Given the description of an element on the screen output the (x, y) to click on. 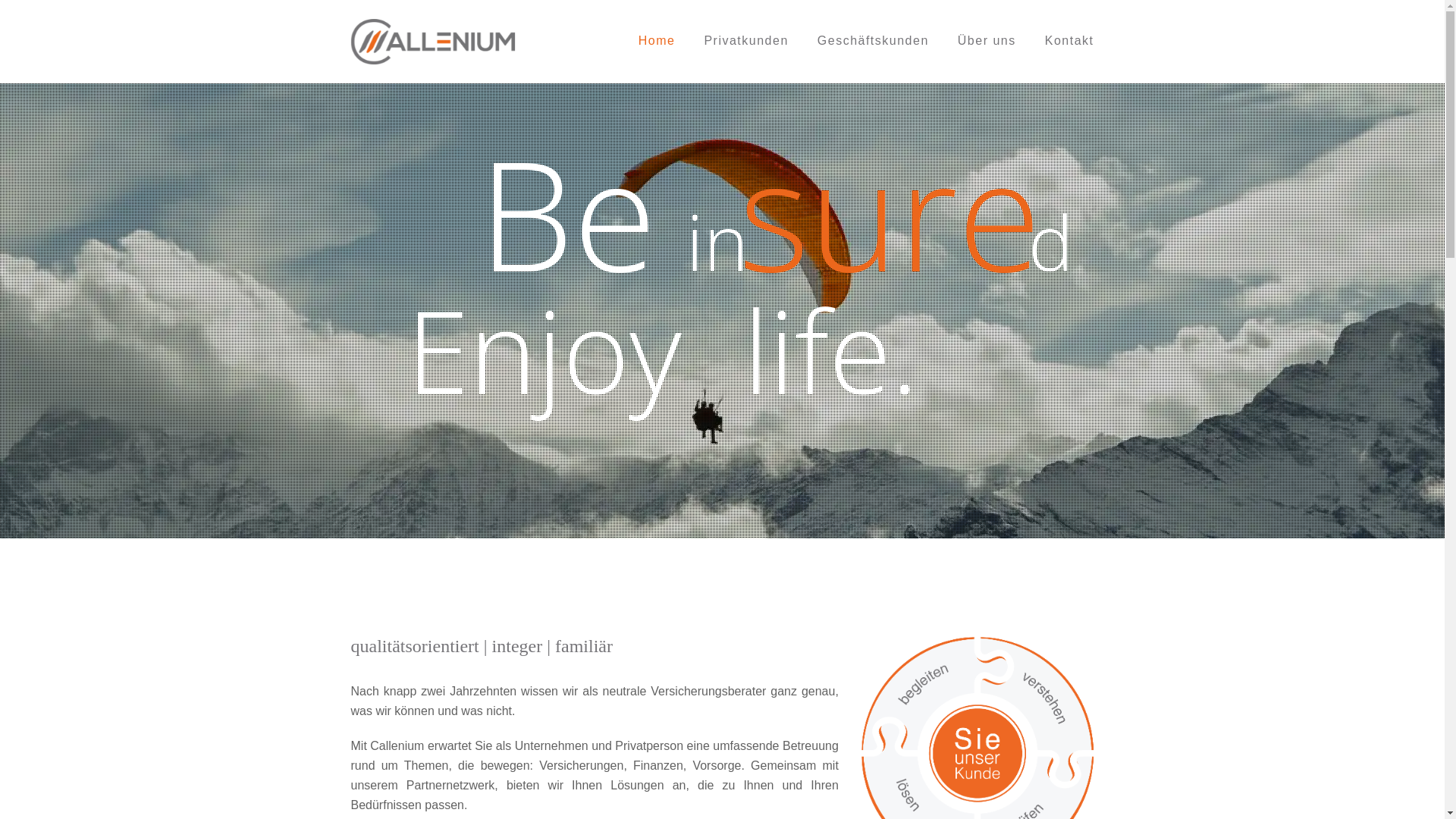
Privatkunden Element type: text (745, 41)
Home Element type: text (657, 41)
Kontakt Element type: text (1069, 41)
